Given the description of an element on the screen output the (x, y) to click on. 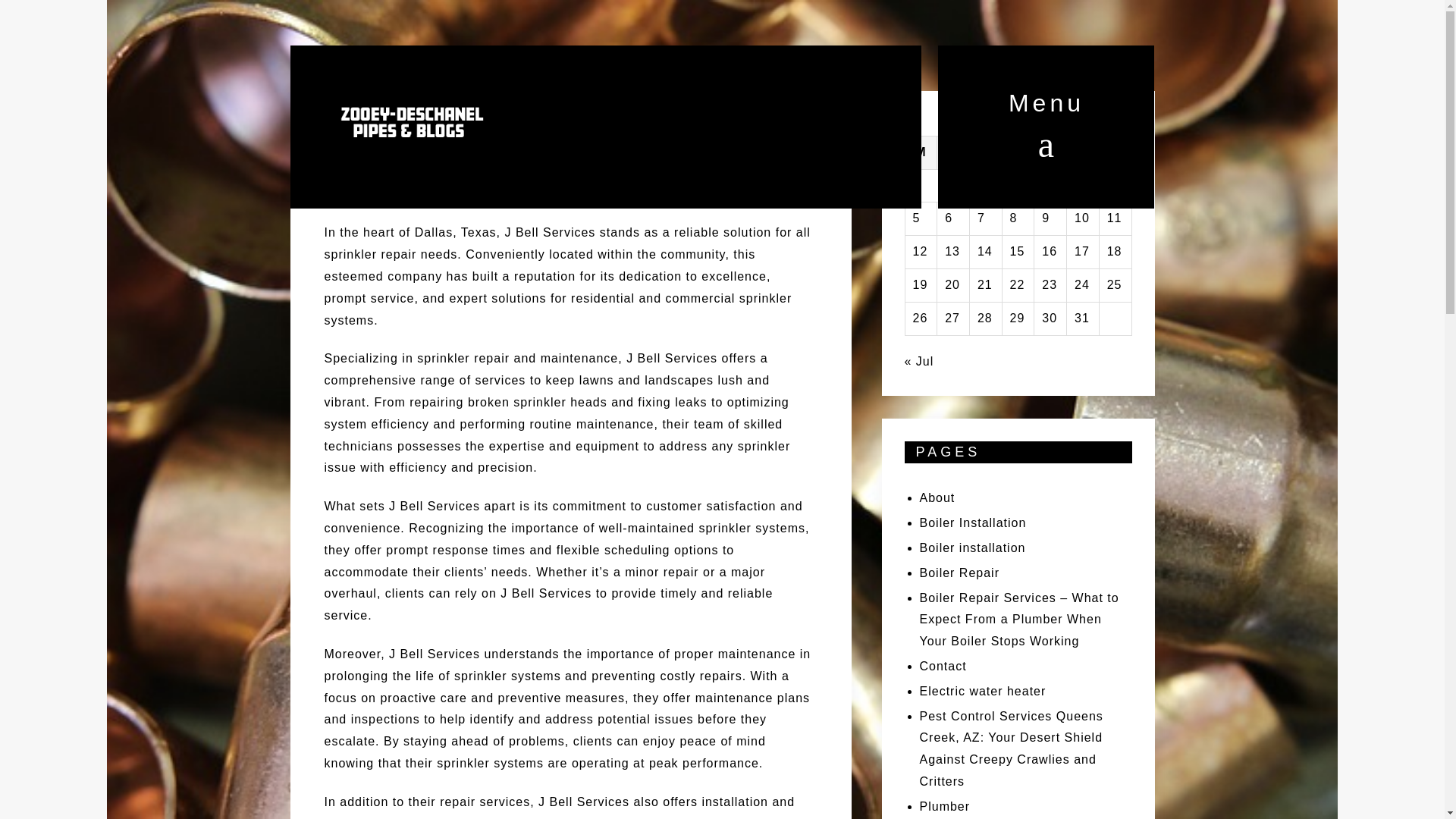
Saturday (1083, 151)
Thursday (1017, 151)
Sunday (1115, 151)
Contact (942, 666)
Search (48, 24)
Plumber (943, 806)
About (936, 497)
Uncategorized (569, 134)
Tuesday (953, 151)
Monday (920, 151)
Boiler Repair (958, 572)
March 13, 2024 (384, 134)
Friday (1050, 151)
Boiler installation (971, 547)
